Given the description of an element on the screen output the (x, y) to click on. 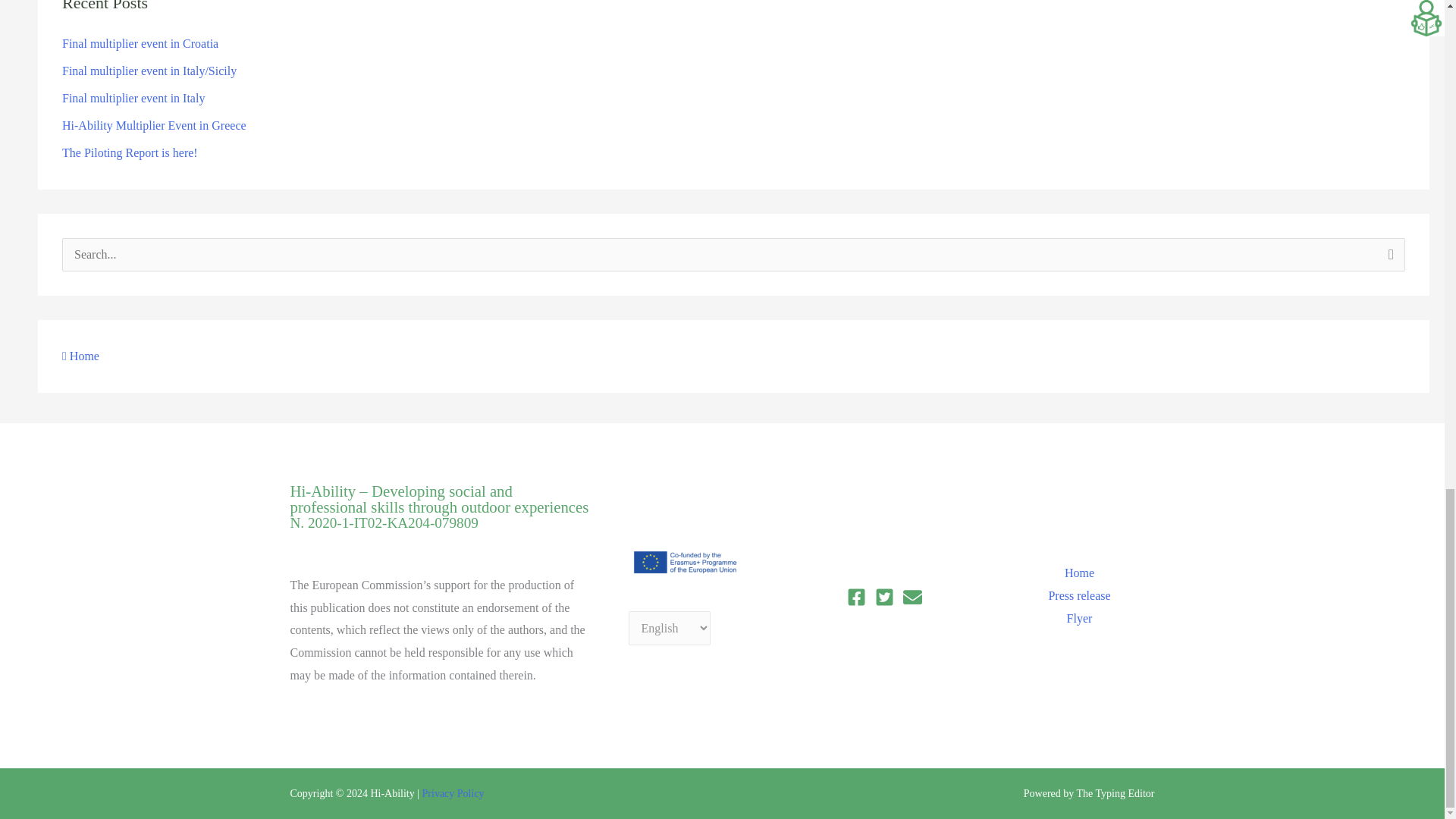
Final multiplier event in Croatia (140, 42)
The Piloting Report is here! (130, 152)
Hi-Ability Multiplier Event in Greece (154, 124)
Home (80, 355)
Final multiplier event in Italy (133, 97)
